Given the description of an element on the screen output the (x, y) to click on. 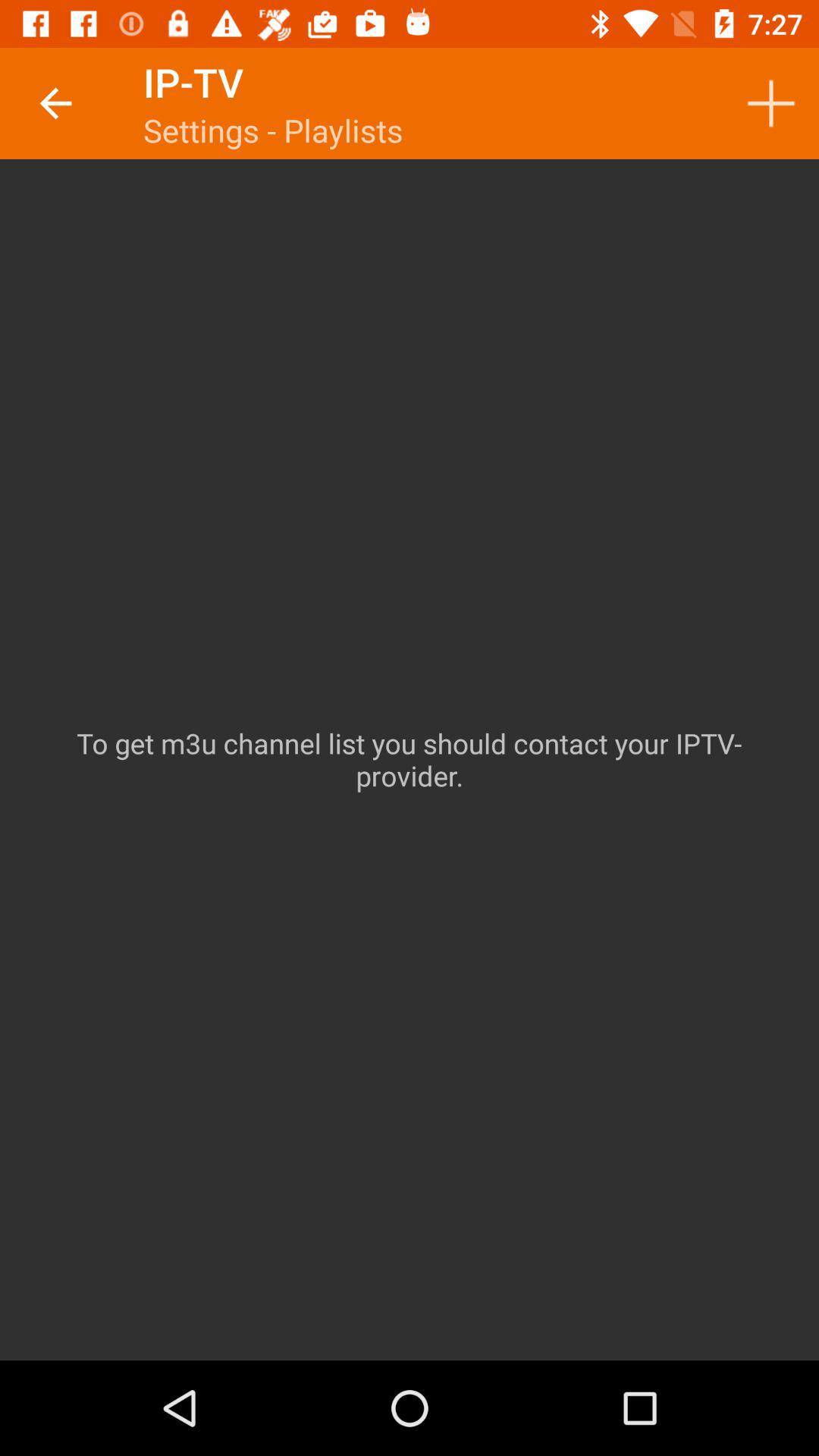
tap the icon to the left of the ip-tv item (55, 103)
